Given the description of an element on the screen output the (x, y) to click on. 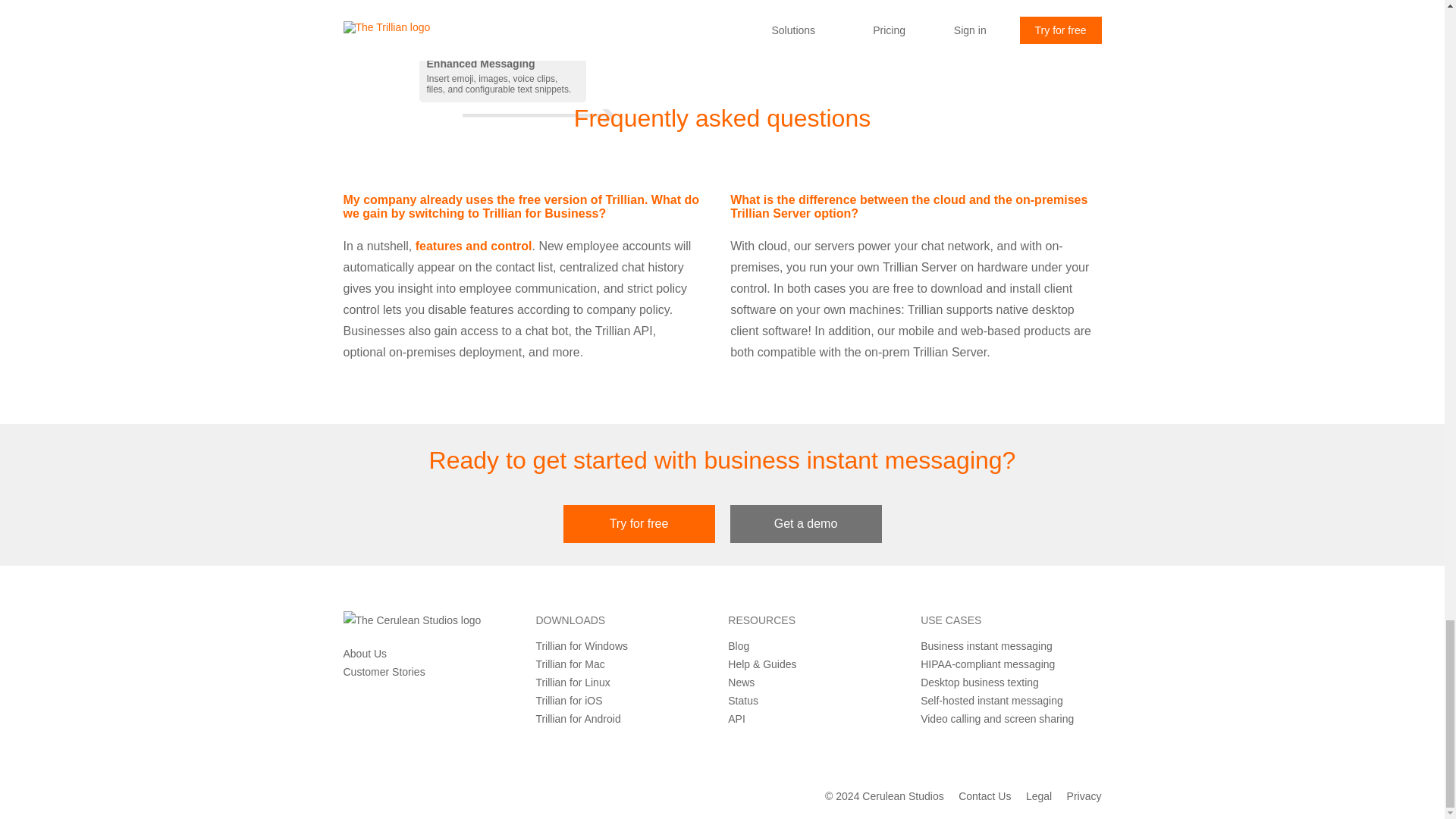
Trillian for Android (577, 718)
Desktop business texting (979, 682)
Video calling and screen sharing (997, 718)
News (741, 682)
Trillian for Mac (569, 664)
API (736, 718)
Customer Stories (383, 671)
Trillian for iOS (568, 700)
features and control (473, 245)
Legal (1038, 796)
